Given the description of an element on the screen output the (x, y) to click on. 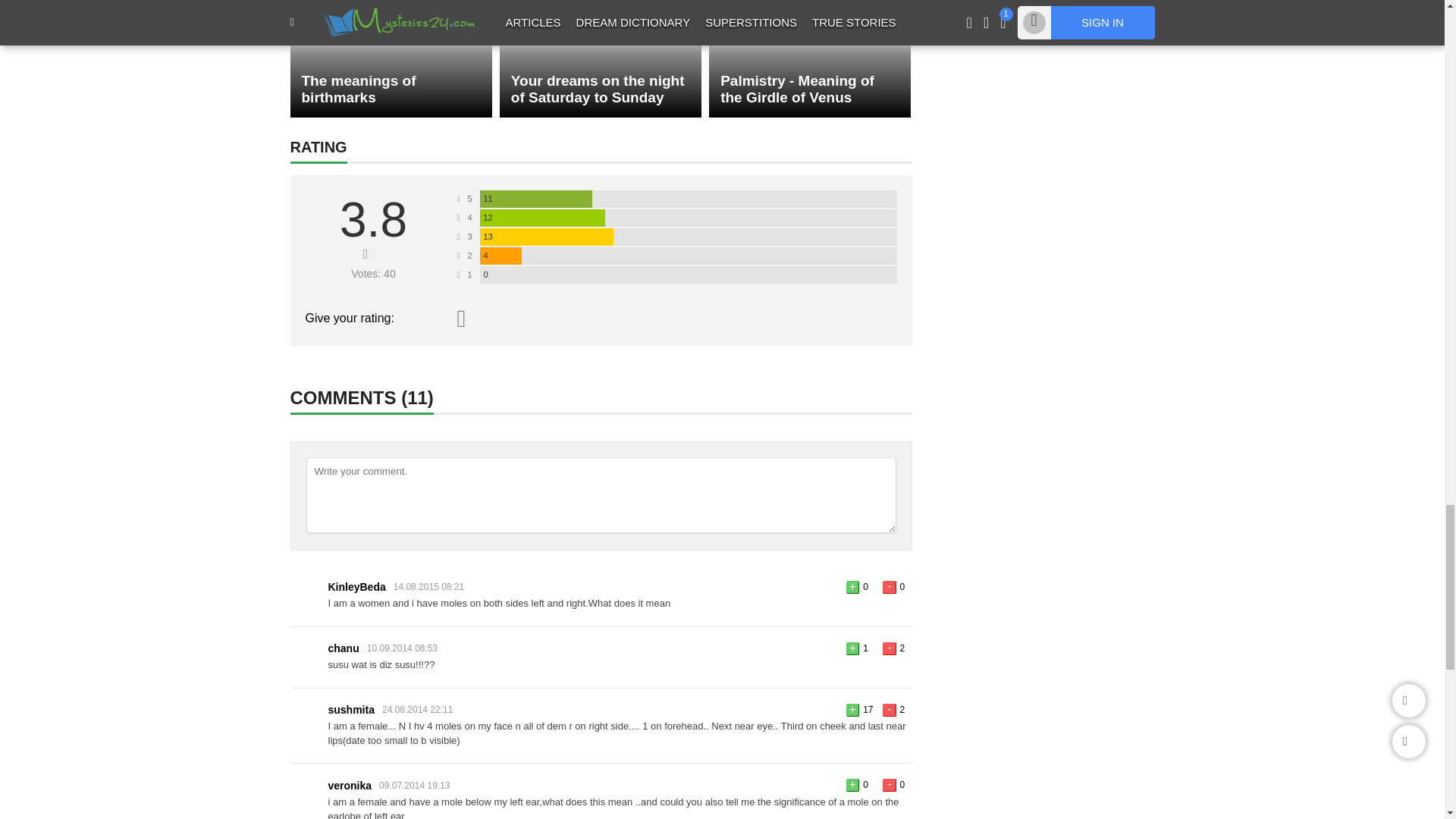
Don't like (888, 709)
Like (852, 586)
Don't like (888, 586)
Like (852, 709)
Like (852, 648)
Your dreams on the night of Saturday to Sunday (600, 58)
Don't like (888, 648)
Don't like (888, 784)
Like (852, 784)
The meanings of birthmarks (390, 58)
Palmistry - Meaning of the Girdle of Venus (810, 58)
